Given the description of an element on the screen output the (x, y) to click on. 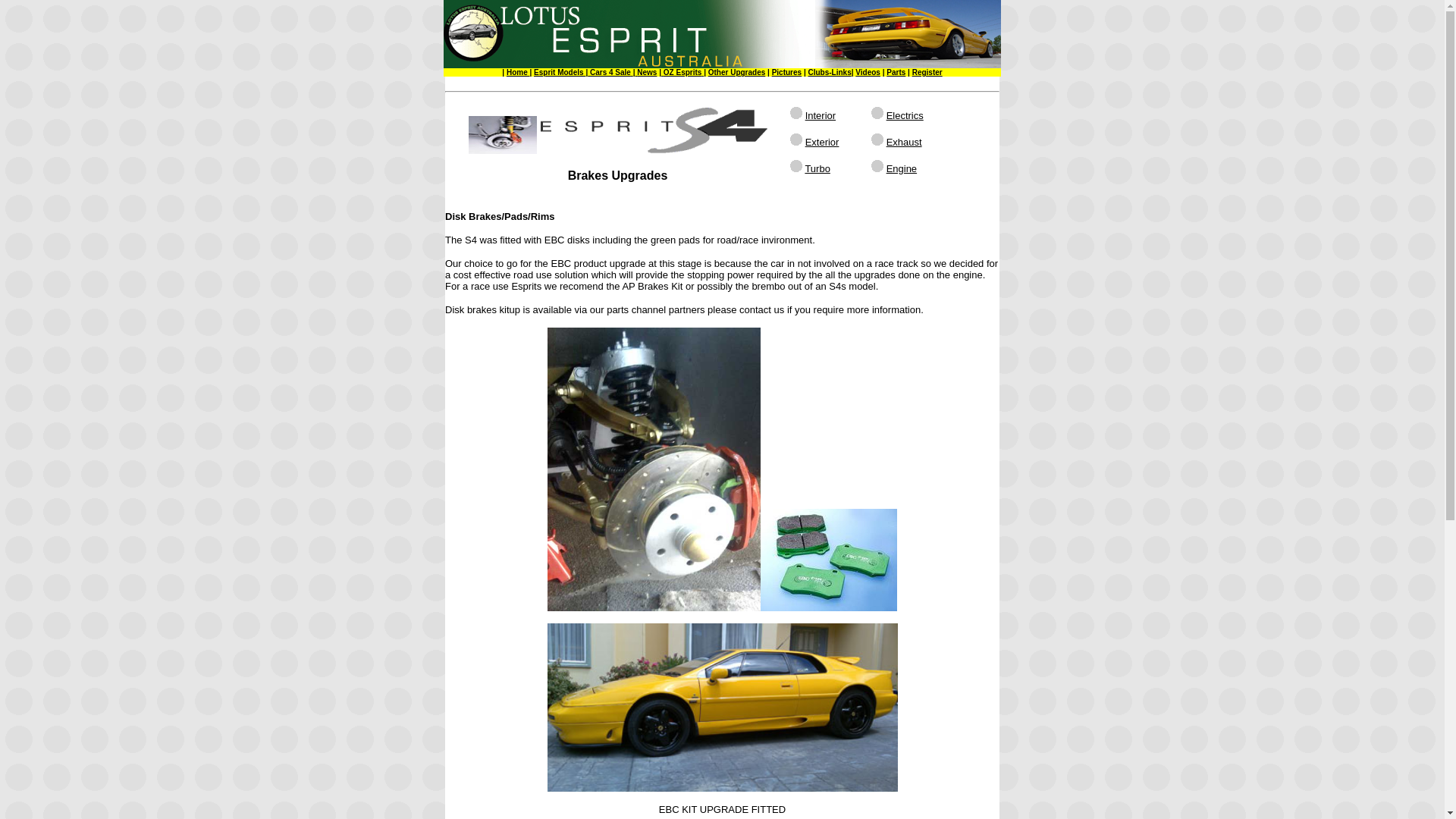
OZ Esprits Element type: text (681, 72)
News Element type: text (646, 72)
Parts Element type: text (895, 72)
Engine Element type: text (901, 168)
Exhaust Element type: text (904, 141)
Cars 4 Sale Element type: text (610, 72)
Pictures Element type: text (786, 72)
Register Element type: text (927, 72)
Home Element type: text (518, 72)
Videos Element type: text (867, 72)
Esprit Models Element type: text (559, 72)
Other Upgrades Element type: text (736, 72)
Turbo Element type: text (816, 168)
Clubs-Links Element type: text (829, 72)
Exterior Element type: text (822, 141)
Interior Element type: text (820, 115)
Electrics Element type: text (904, 115)
